Given the description of an element on the screen output the (x, y) to click on. 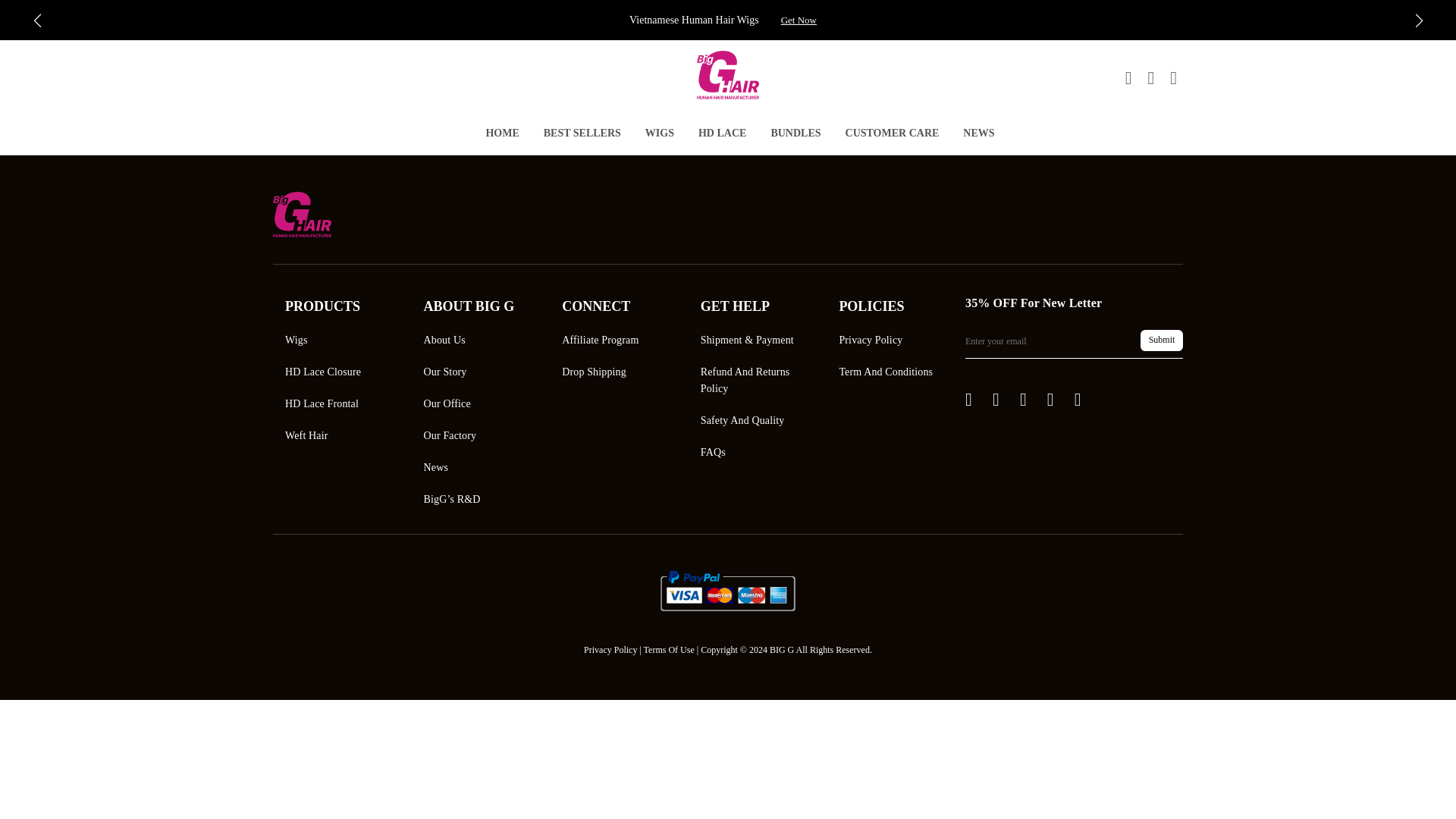
BEST SELLERS (582, 134)
Best Sellers (582, 134)
HD Lace (721, 134)
Bundles (795, 134)
Customer Care (892, 134)
Get Now (799, 20)
HD LACE (721, 134)
Submit (1161, 340)
